Given the description of an element on the screen output the (x, y) to click on. 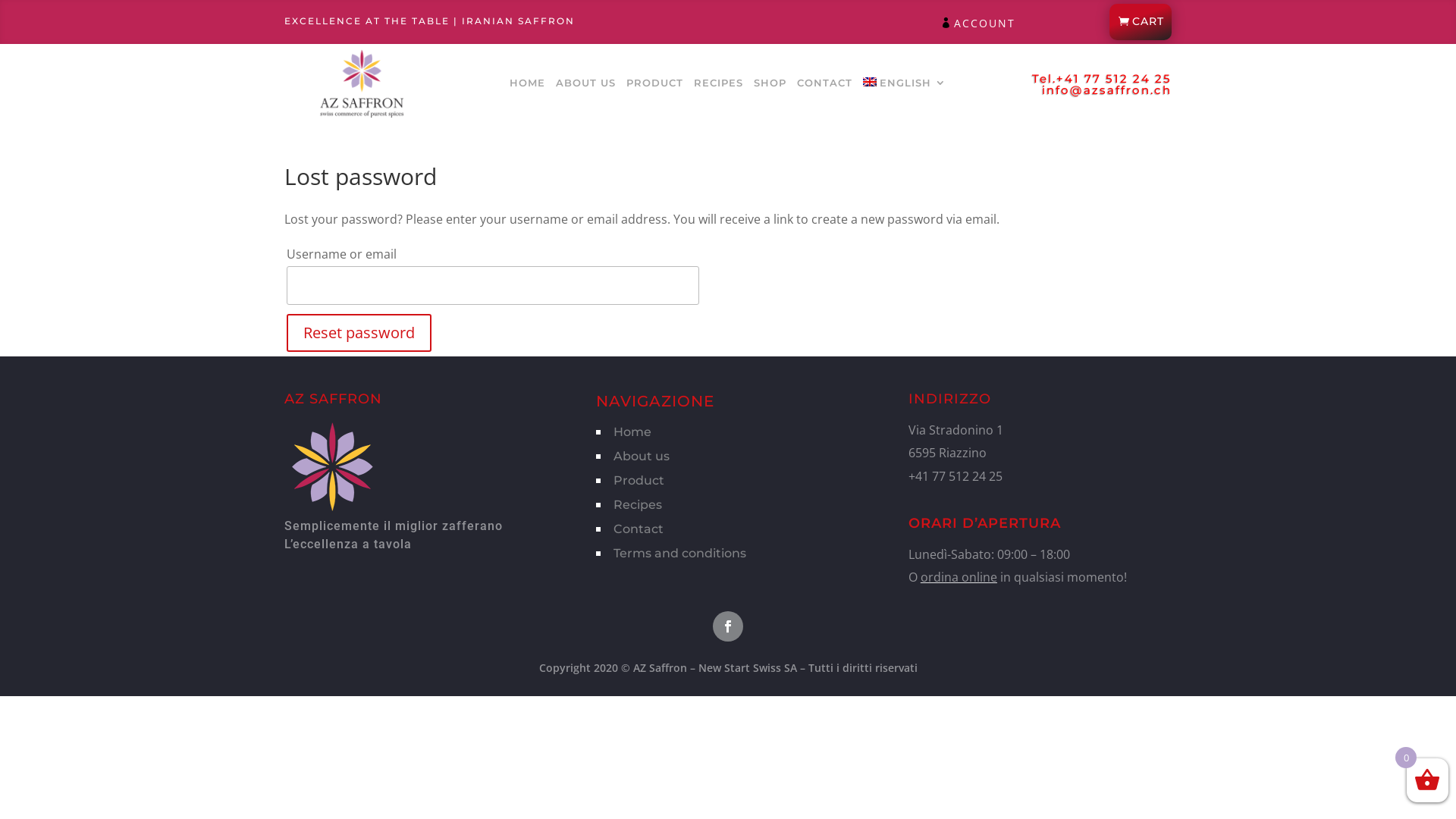
ABOUT US Element type: text (585, 85)
Home Element type: text (632, 431)
RECIPES Element type: text (718, 85)
About us Element type: text (641, 455)
SHOP Element type: text (769, 85)
CONTACT Element type: text (824, 85)
Contact Element type: text (638, 528)
ENGLISH Element type: text (904, 85)
Recipes Element type: text (637, 504)
Product Element type: text (638, 480)
HOME Element type: text (527, 85)
CART Element type: text (1140, 21)
Terms and conditions Element type: text (679, 553)
ACCOUNT Element type: text (984, 23)
ordina online Element type: text (958, 576)
Follow on Facebook Element type: hover (727, 626)
Reset password Element type: text (358, 332)
PRODUCT Element type: text (654, 85)
